Given the description of an element on the screen output the (x, y) to click on. 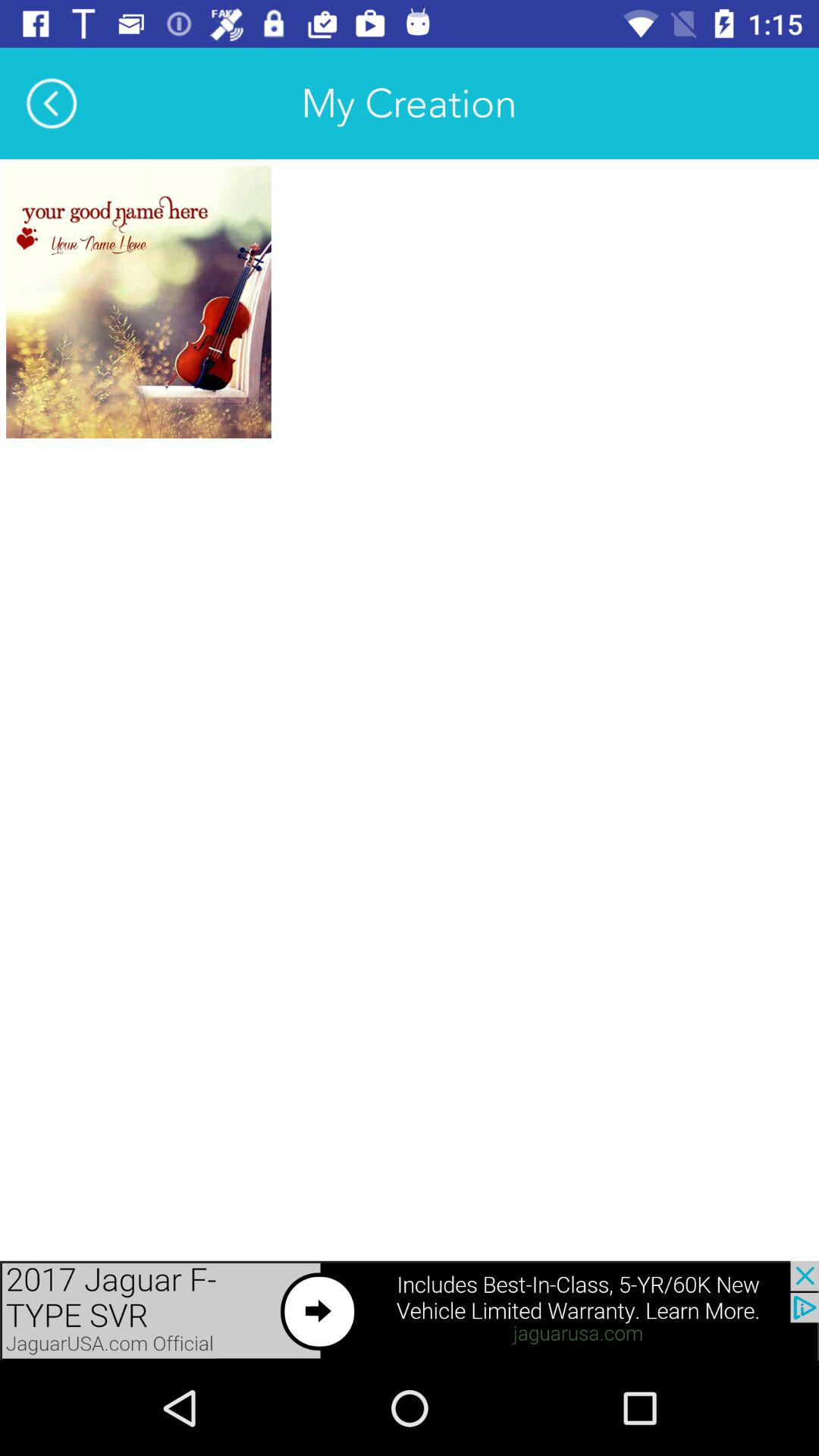
go back (51, 103)
